Given the description of an element on the screen output the (x, y) to click on. 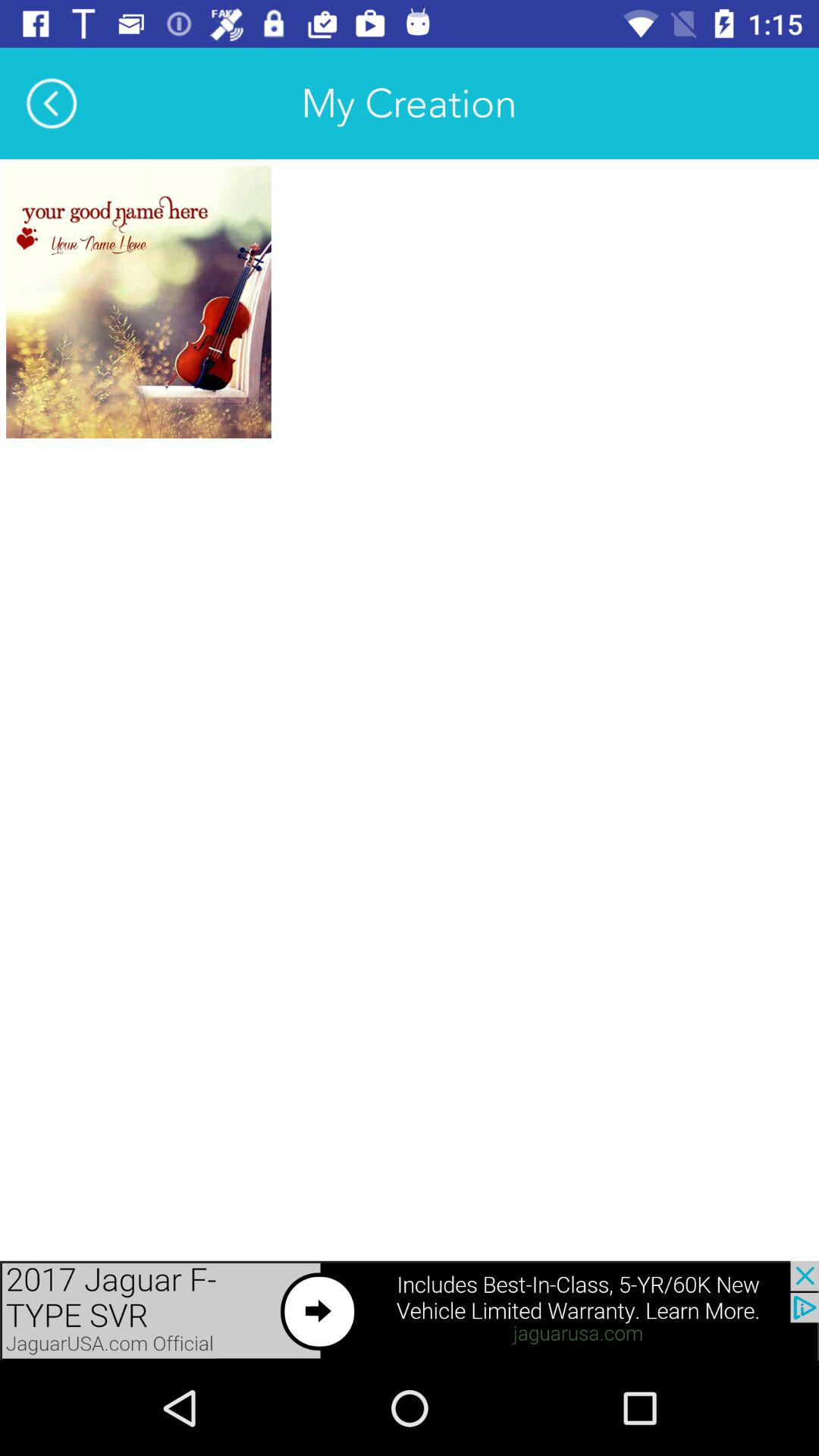
go back (51, 103)
